Given the description of an element on the screen output the (x, y) to click on. 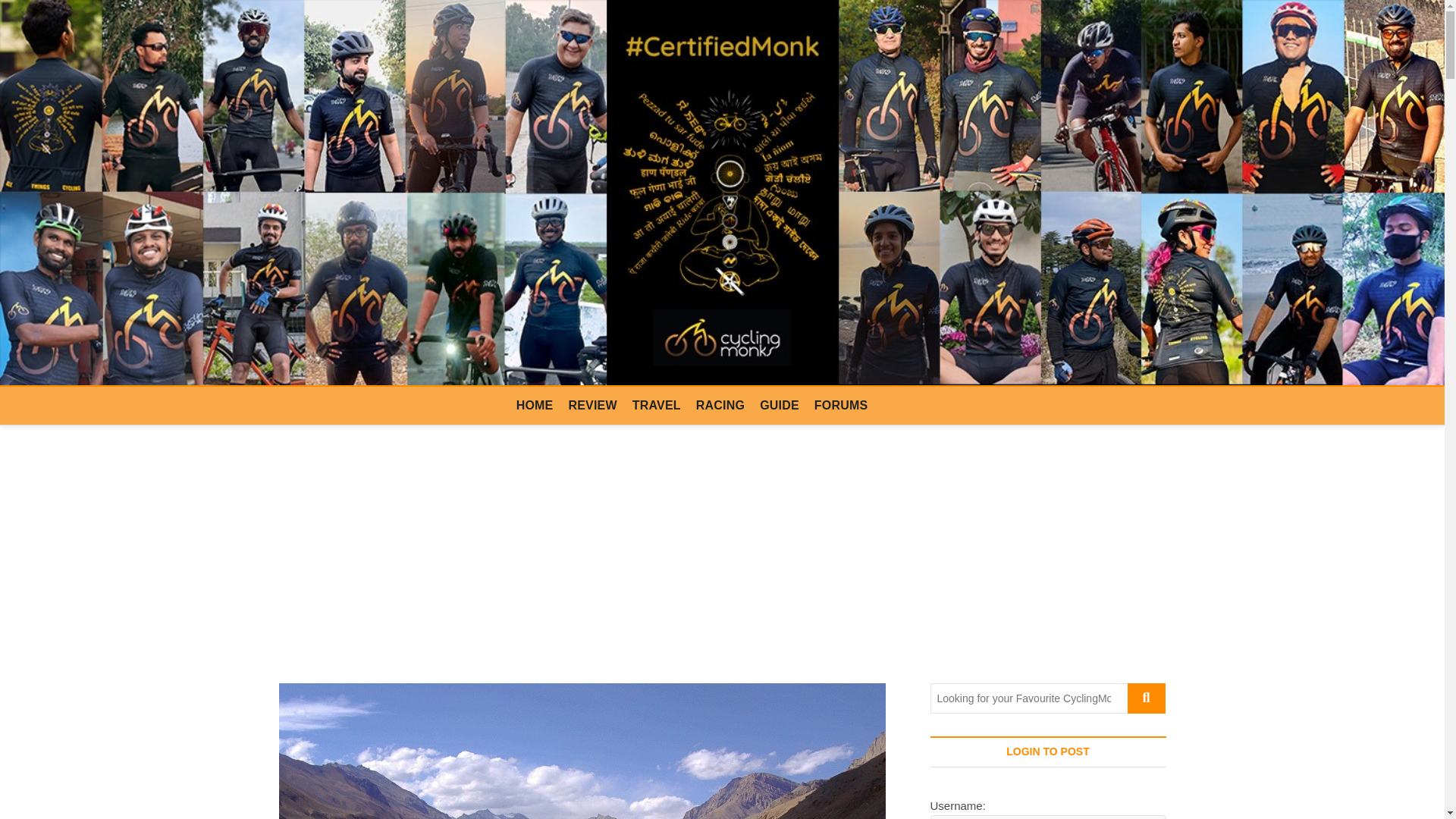
GUIDE (779, 405)
RACING (720, 405)
FORUMS (841, 405)
REVIEW (592, 405)
TRAVEL (656, 405)
HOME (534, 405)
